Given the description of an element on the screen output the (x, y) to click on. 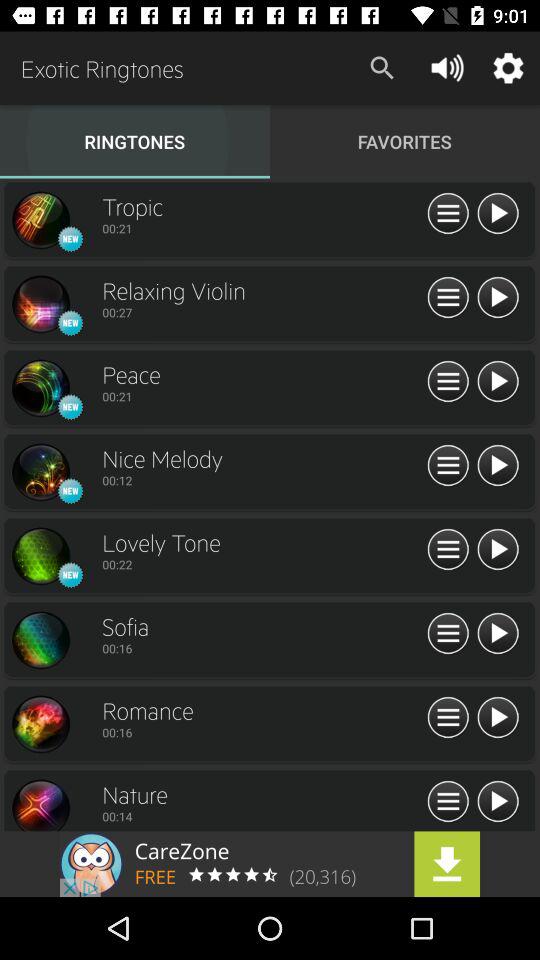
selected ringtone (40, 804)
